Given the description of an element on the screen output the (x, y) to click on. 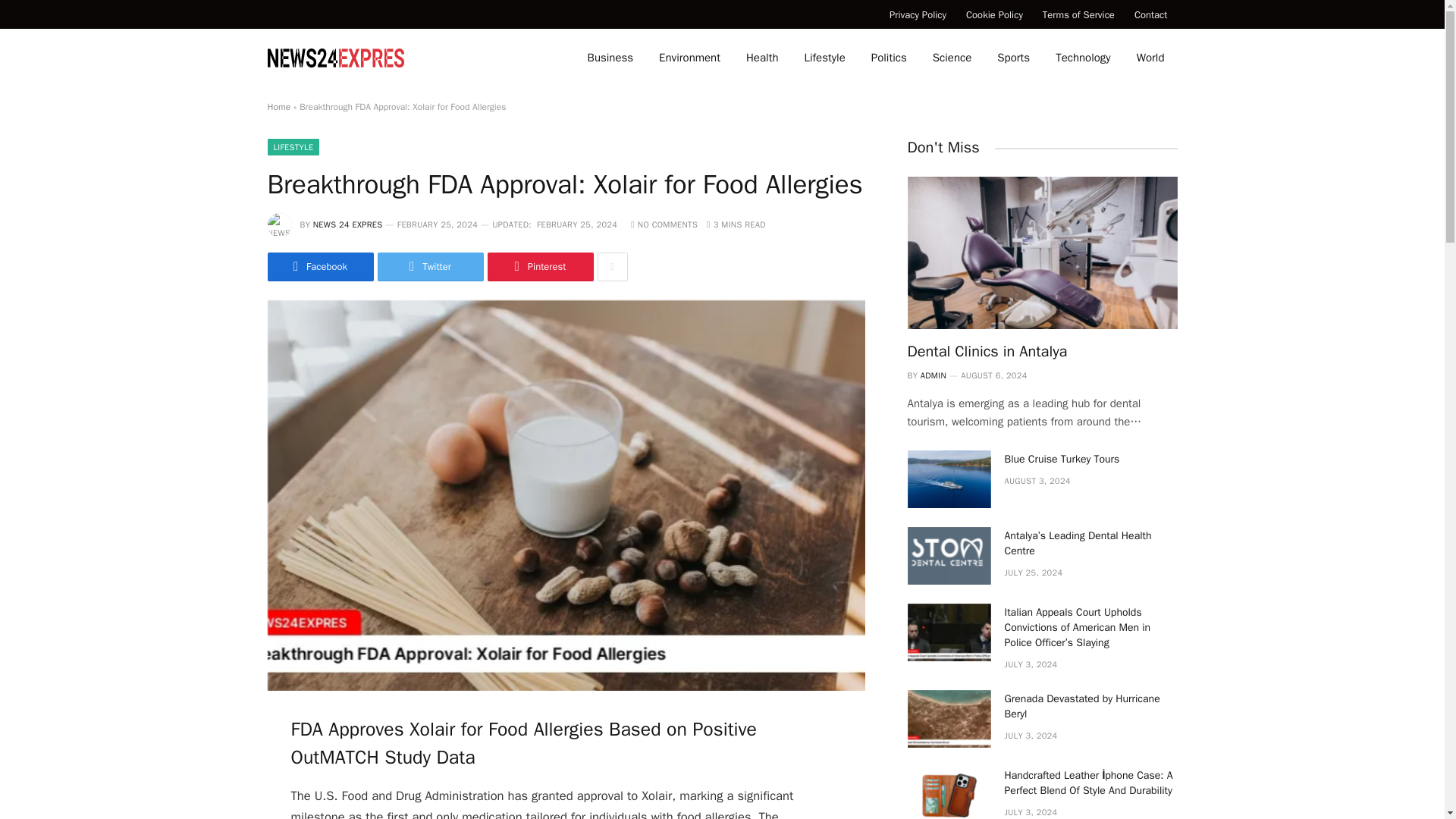
Terms of Service (1078, 14)
Lifestyle (825, 57)
Science (952, 57)
World (1150, 57)
LIFESTYLE (292, 146)
Privacy Policy (917, 14)
Home (277, 106)
Business (610, 57)
Posts by News 24 Expres (347, 224)
Share on Pinterest (539, 266)
